Given the description of an element on the screen output the (x, y) to click on. 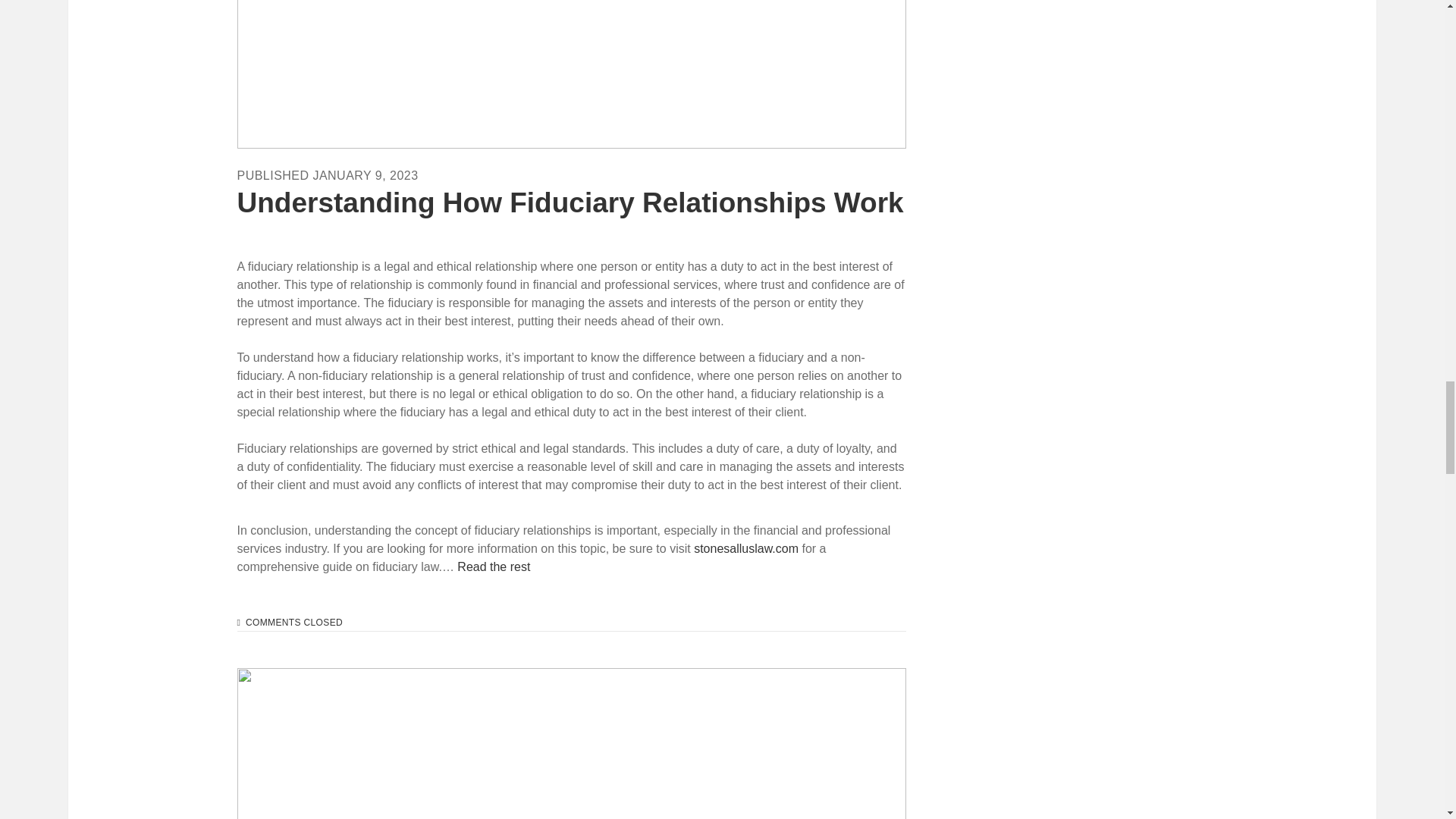
comment icon (237, 622)
Understanding How Fiduciary Relationships Work (568, 202)
Understanding How Fiduciary Relationships Work (570, 74)
stonesalluslaw.com (745, 548)
Custom Baby Name Bracelets (570, 743)
Read the rest (493, 566)
